Given the description of an element on the screen output the (x, y) to click on. 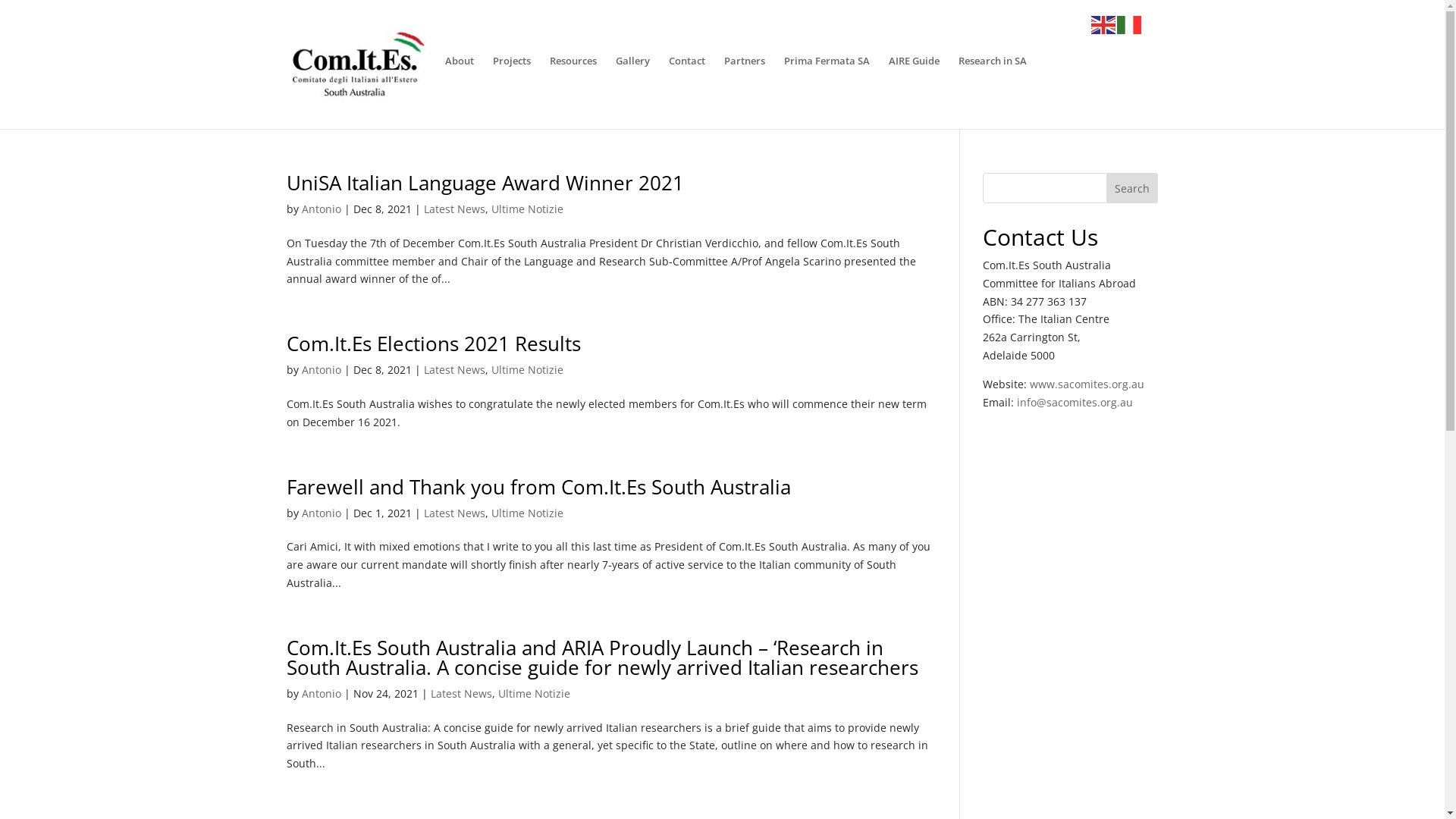
Ultime Notizie Element type: text (527, 512)
info@sacomites.org.au Element type: text (1072, 402)
Partners Element type: text (744, 88)
Antonio Element type: text (321, 369)
Antonio Element type: text (321, 208)
Projects Element type: text (511, 88)
UniSA Italian Language Award Winner 2021 Element type: text (485, 182)
Search Element type: text (1131, 187)
Latest News Element type: text (461, 693)
Antonio Element type: text (321, 512)
Research in SA Element type: text (992, 88)
About Element type: text (459, 88)
Prima Fermata SA Element type: text (826, 88)
Latest News Element type: text (454, 208)
Latest News Element type: text (454, 512)
Gallery Element type: text (632, 88)
Ultime Notizie Element type: text (534, 693)
Ultime Notizie Element type: text (527, 369)
Antonio Element type: text (321, 693)
Contact Element type: text (686, 88)
English Element type: hover (1104, 23)
Com.It.Es Elections 2021 Results Element type: text (433, 343)
Resources Element type: text (572, 88)
Ultime Notizie Element type: text (527, 208)
www.sacomites.org.au Element type: text (1086, 383)
Farewell and Thank you from Com.It.Es South Australia Element type: text (538, 486)
Latest News Element type: text (454, 369)
Italian Element type: hover (1129, 23)
AIRE Guide Element type: text (913, 88)
